Given the description of an element on the screen output the (x, y) to click on. 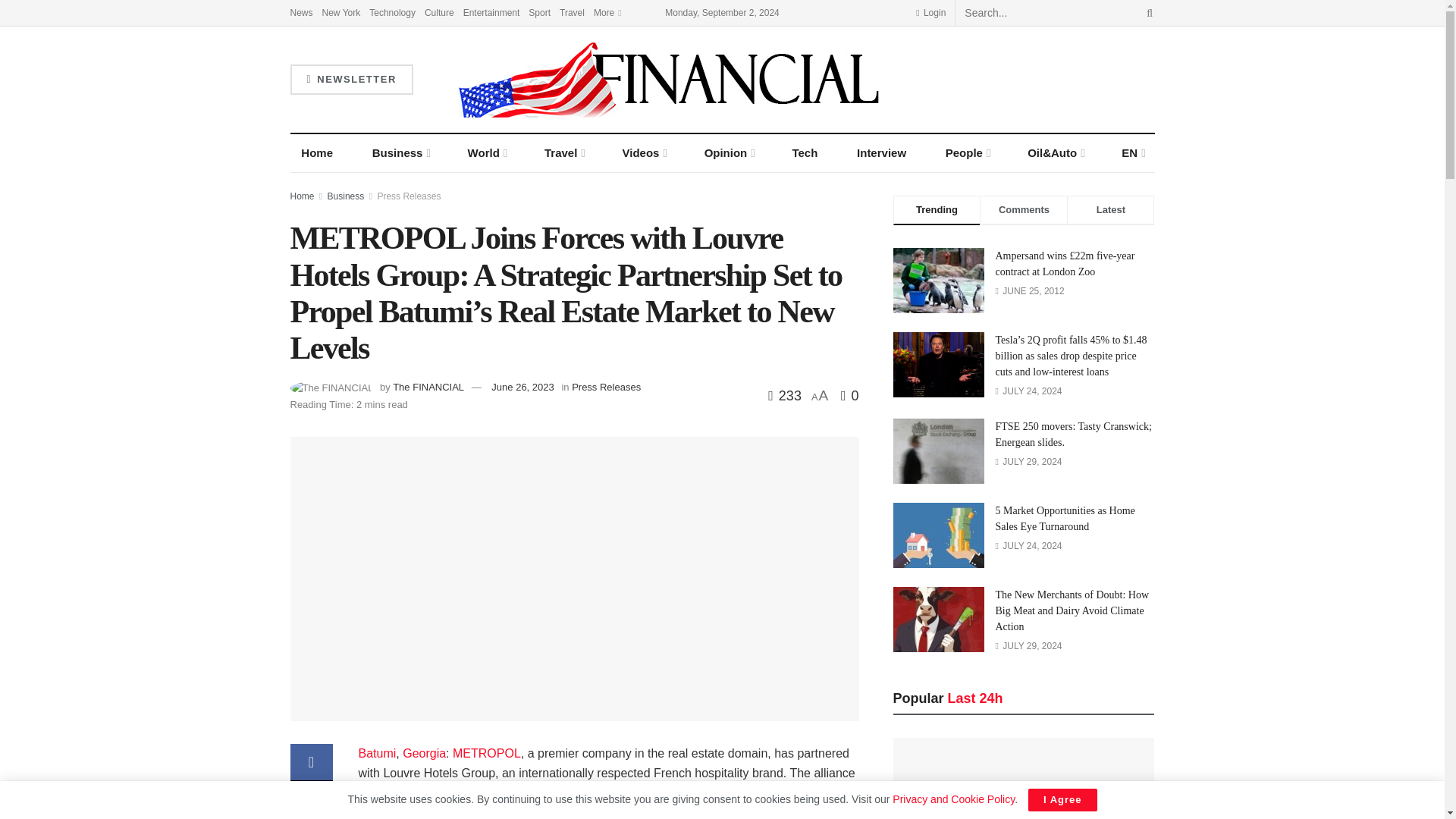
Travel (572, 12)
Technology (391, 12)
World (486, 152)
Login (929, 12)
Georgia (377, 753)
Georgia (424, 753)
Culture (439, 12)
More (607, 12)
Home (316, 152)
NEWSLETTER (350, 79)
